Given the description of an element on the screen output the (x, y) to click on. 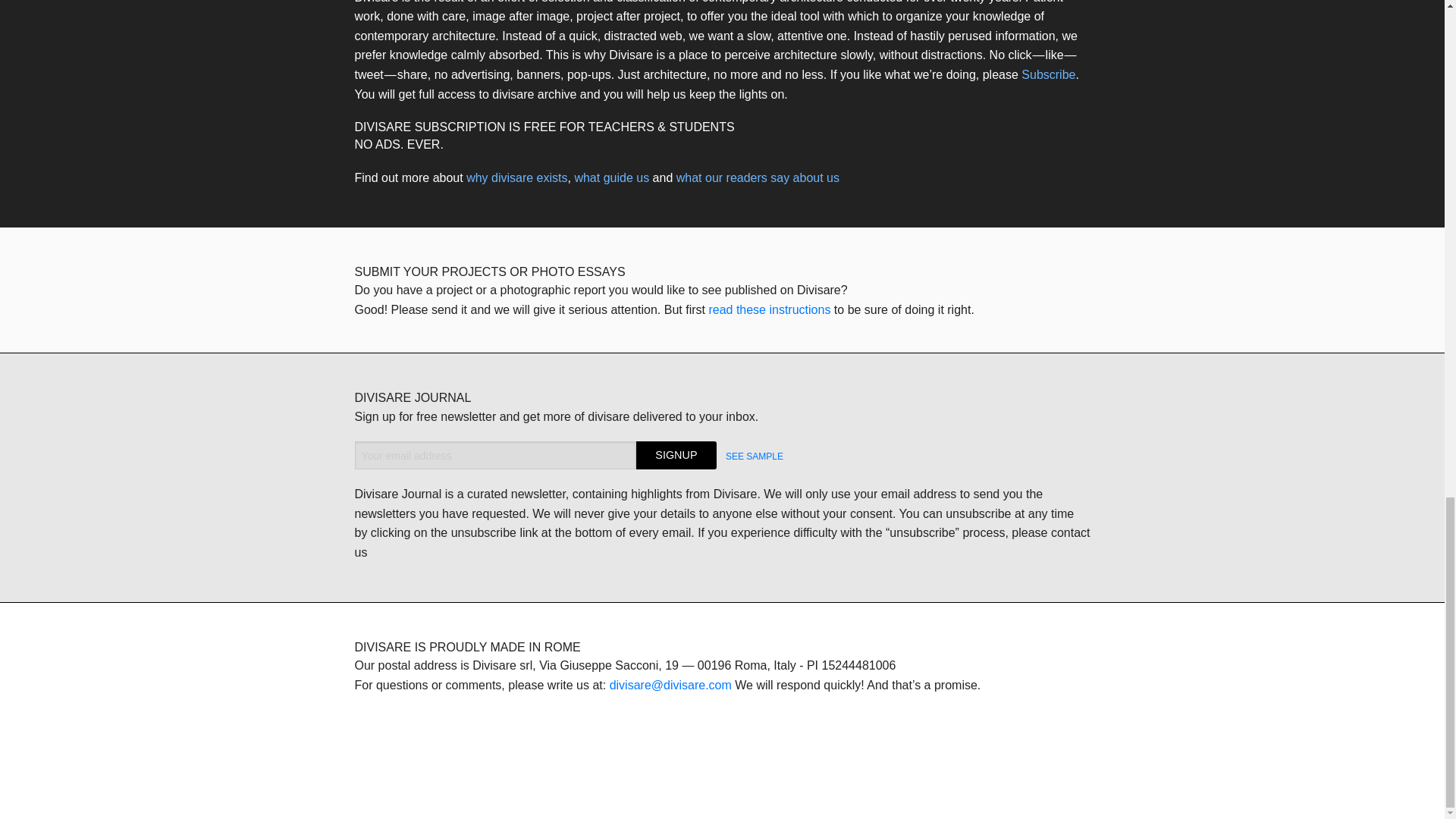
Signup (676, 455)
